Given the description of an element on the screen output the (x, y) to click on. 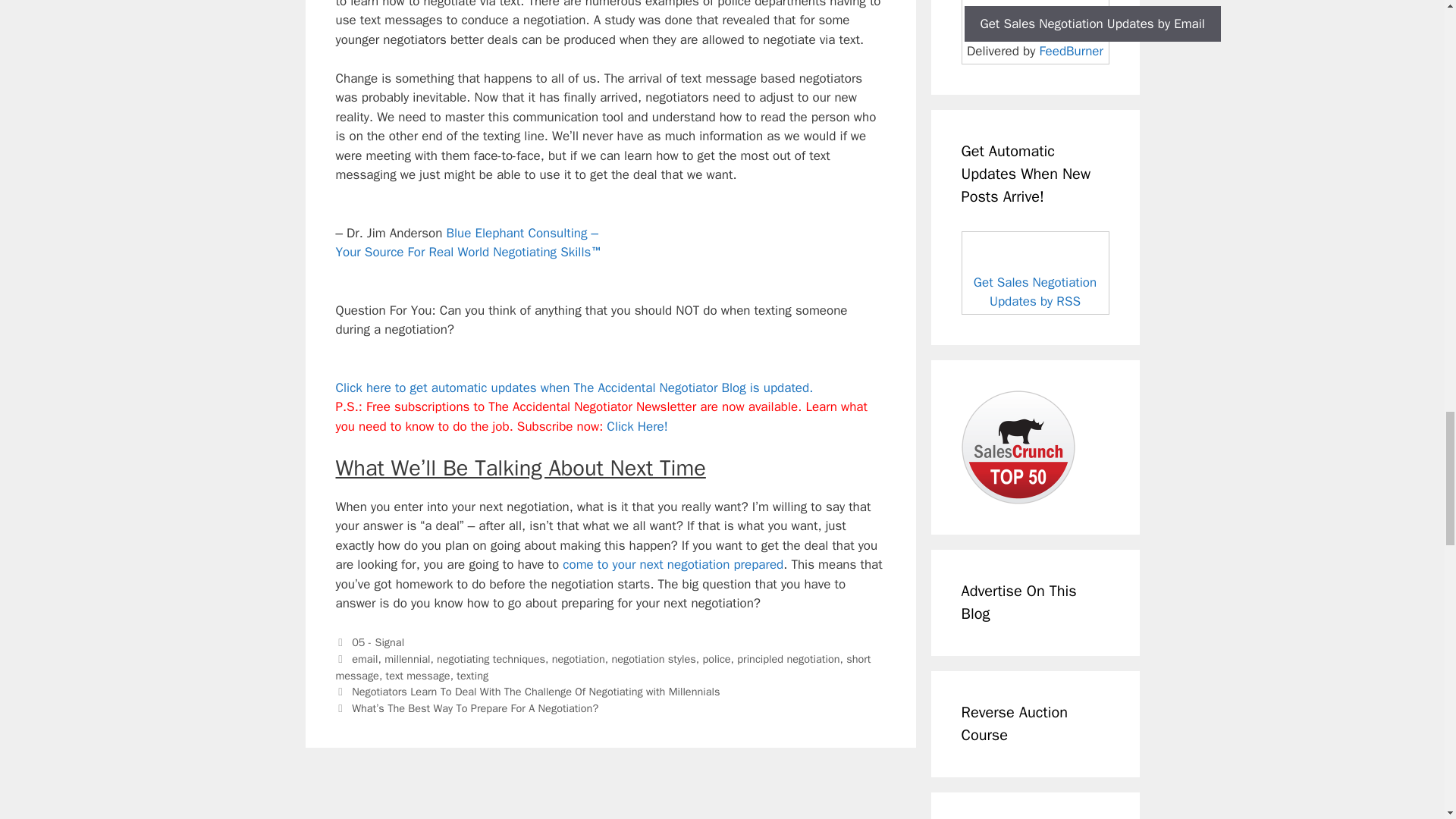
Get Sales Negotiation Updates by Email (1092, 23)
Subscribe to my feed (1034, 272)
05 - Signal (378, 642)
negotiation (578, 658)
short message (602, 666)
 How To Prepare For Your Next Negotiation  (672, 564)
police (715, 658)
texting (472, 675)
come to your next negotiation prepared (672, 564)
principled negotiation (788, 658)
Click Here! (636, 426)
email (364, 658)
text message (417, 675)
negotiating techniques (490, 658)
